Given the description of an element on the screen output the (x, y) to click on. 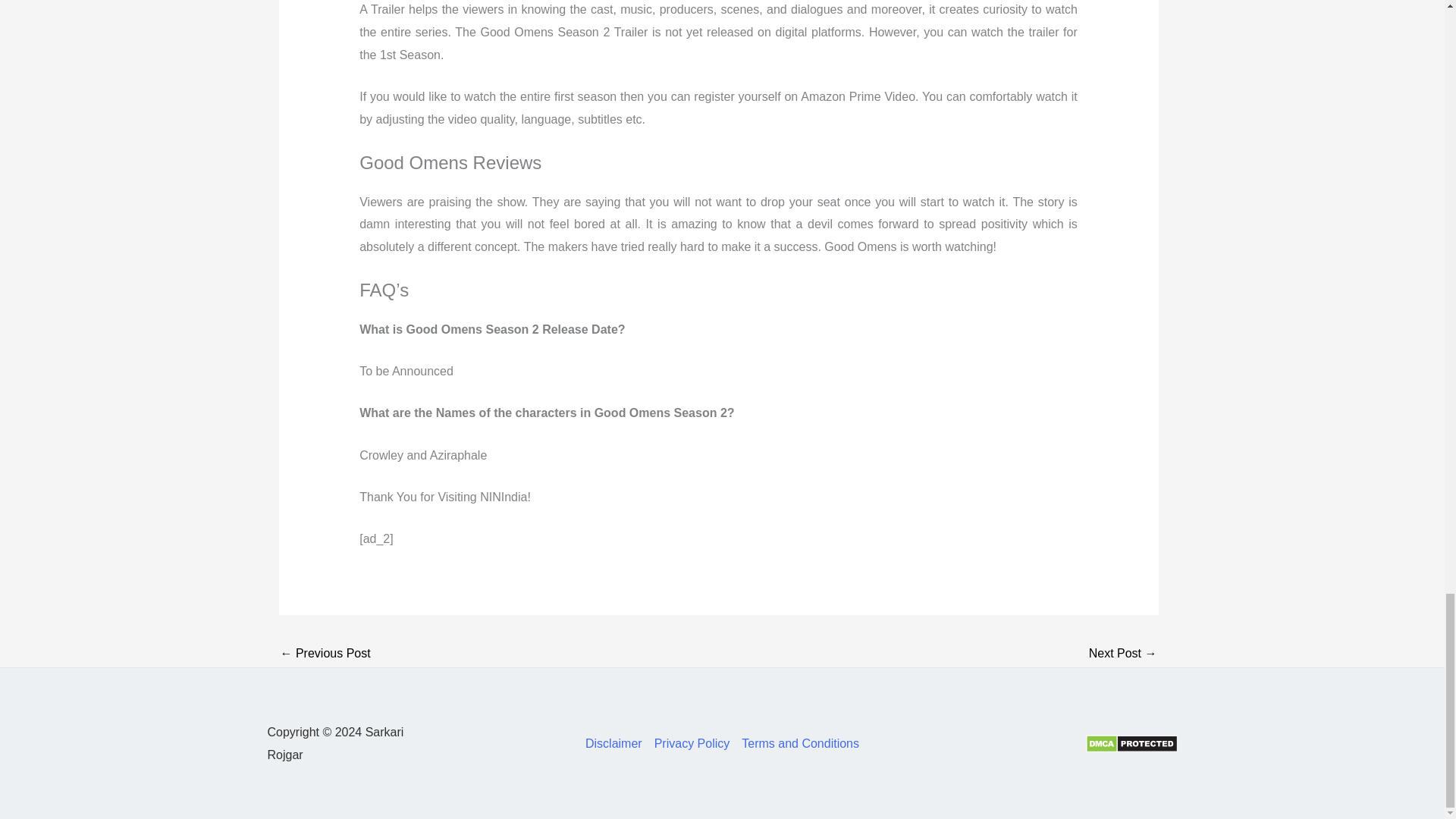
Privacy Policy (691, 743)
DMCA.com Protection Status (1131, 743)
Disclaimer (616, 743)
WIPL 2023 Schedule, Teams List, Auction Date, Players, Date (1123, 654)
Terms and Conditions (797, 743)
